Given the description of an element on the screen output the (x, y) to click on. 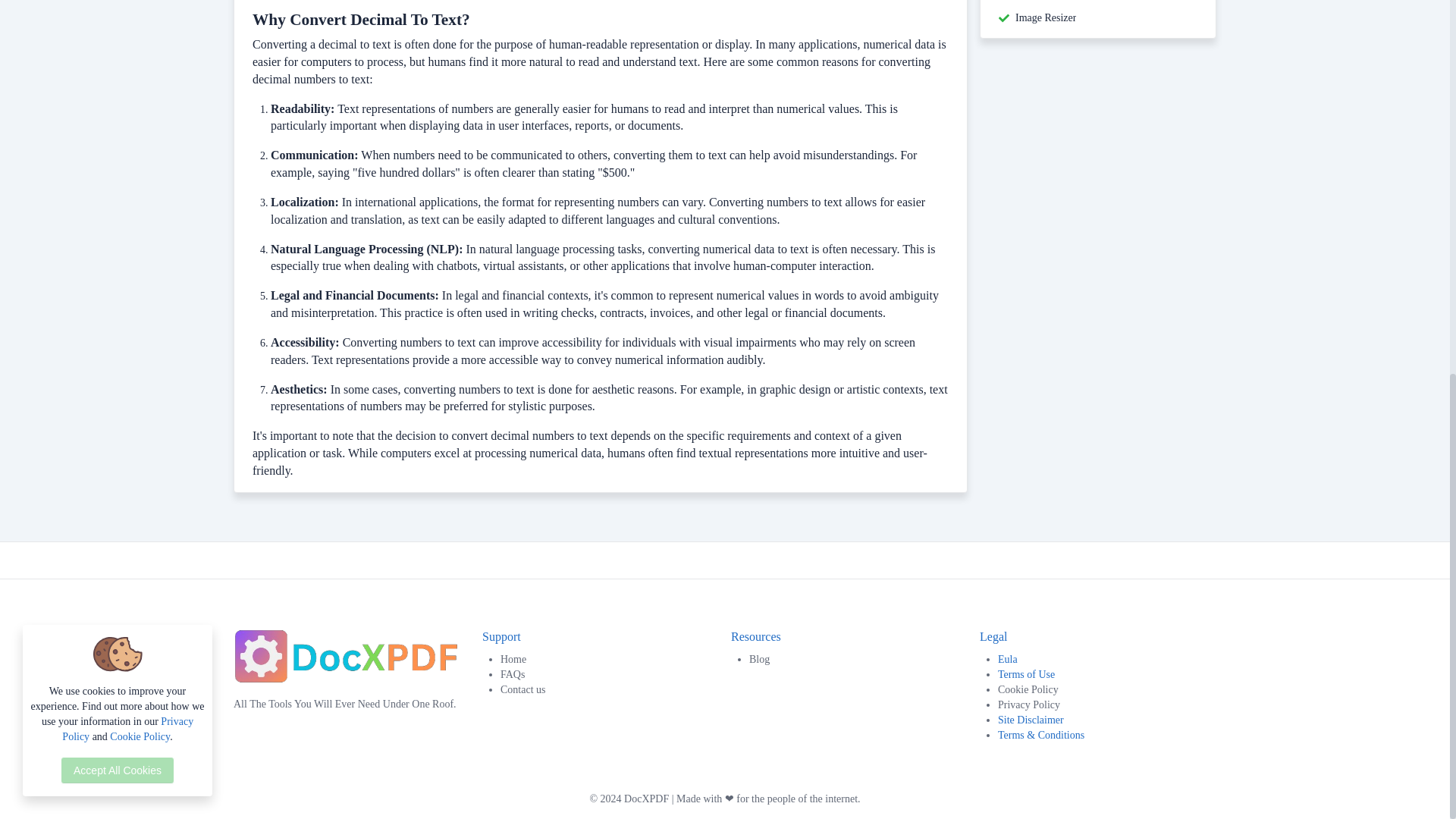
Image Resizer (1044, 17)
Privacy Policy (1106, 704)
Blog (858, 659)
Blog (858, 659)
FAQs (609, 674)
Cookie Policy (1106, 689)
Privacy Policy (1106, 704)
Contact us (609, 689)
Eula (1007, 659)
Site Disclaimer (1030, 719)
